Given the description of an element on the screen output the (x, y) to click on. 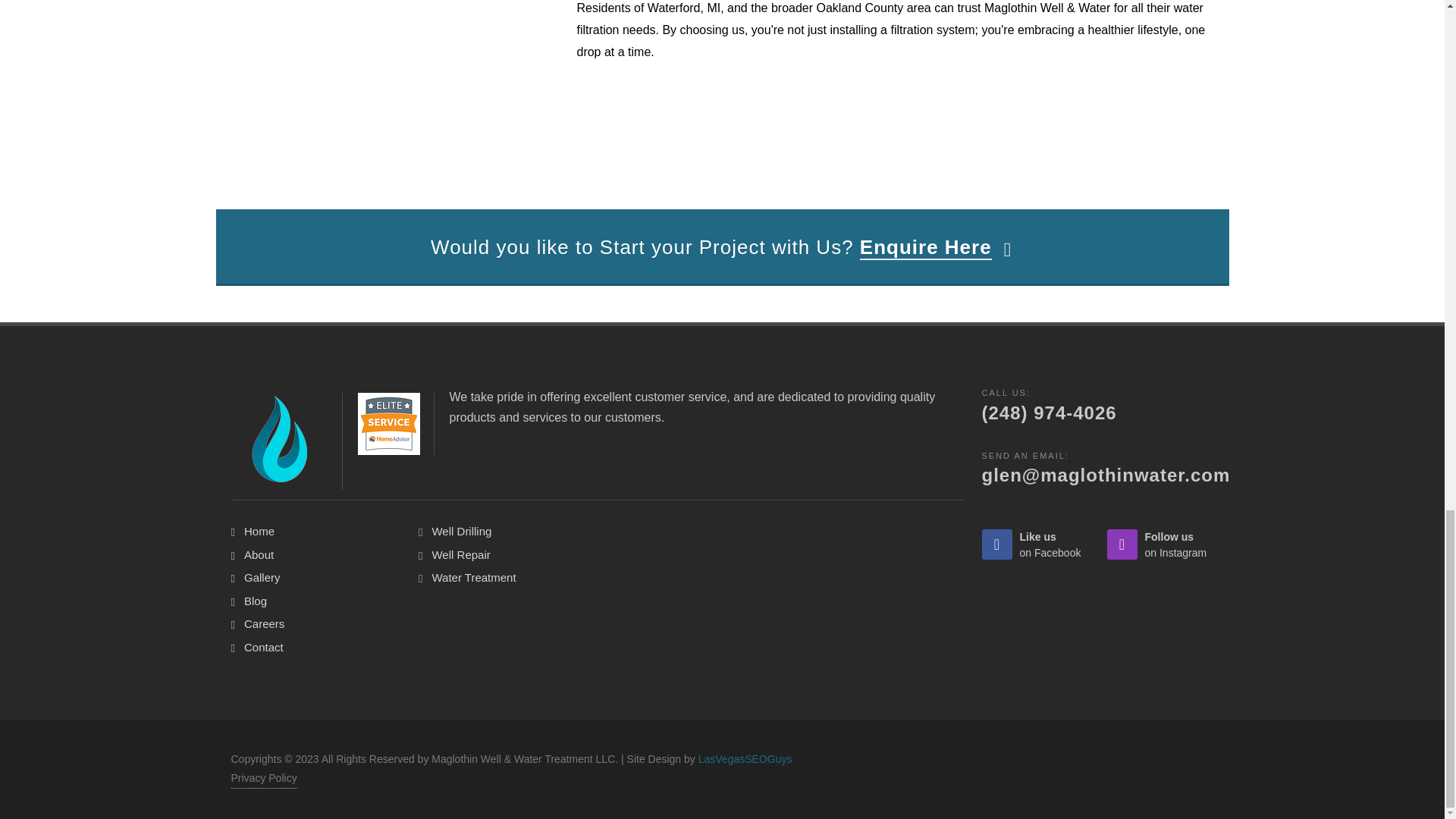
Would you like to Start your Project with Us? Enquire Here (721, 247)
Gallery (258, 578)
Well Repair (457, 555)
Careers (260, 624)
About (255, 555)
Blog (251, 601)
Water Treatment (470, 578)
Well Drilling (457, 531)
Contact (1034, 545)
Home (259, 647)
